Given the description of an element on the screen output the (x, y) to click on. 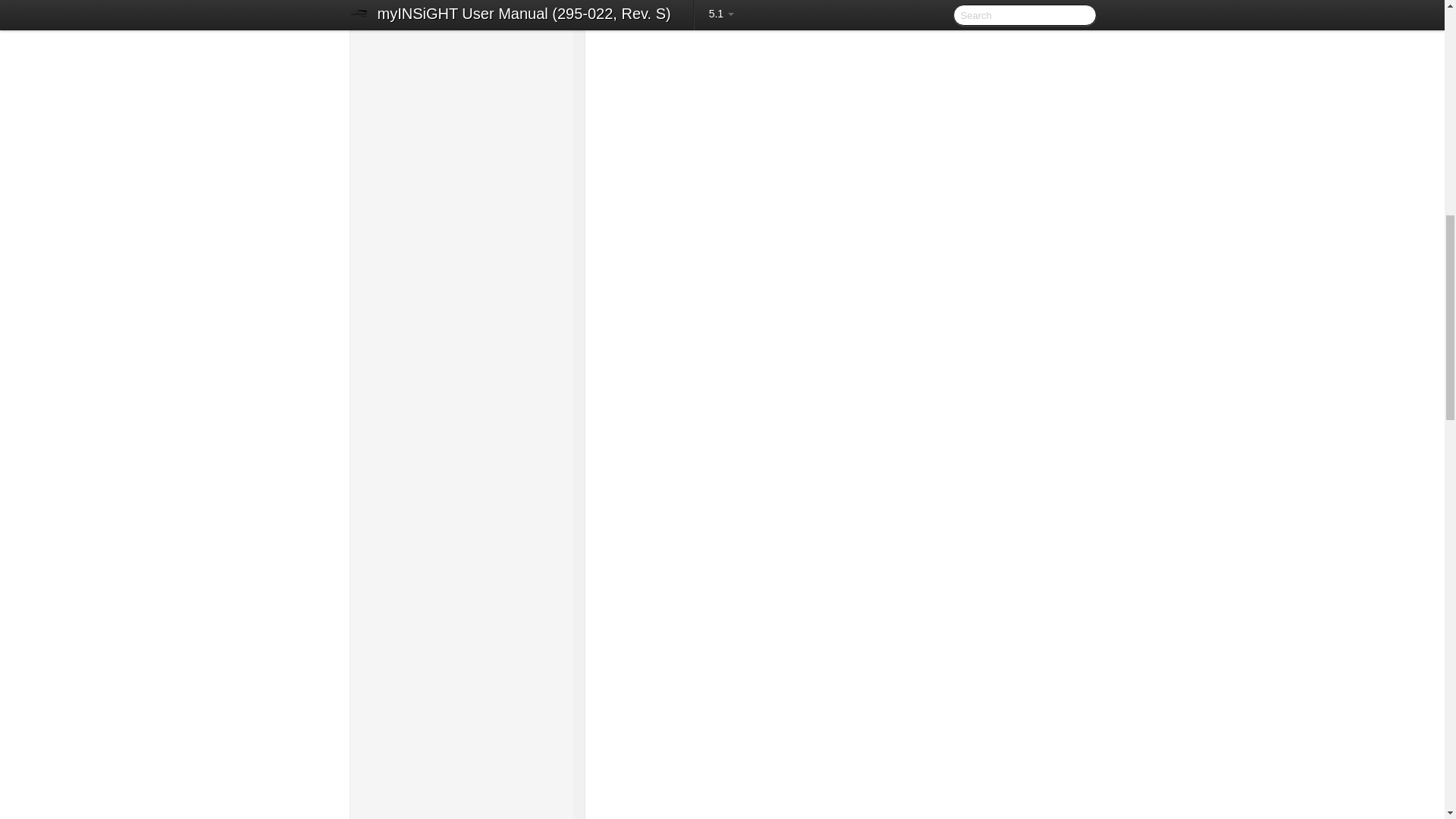
Add New Patient from Office Portal (467, 185)
How to Access the Portal Settings Page (467, 60)
Update or Change your Security Questions (467, 4)
Membership Info (467, 36)
Entering and Editing Practice Location Information (467, 92)
Update Billing Information (467, 18)
Adding Patients (460, 135)
